Given the description of an element on the screen output the (x, y) to click on. 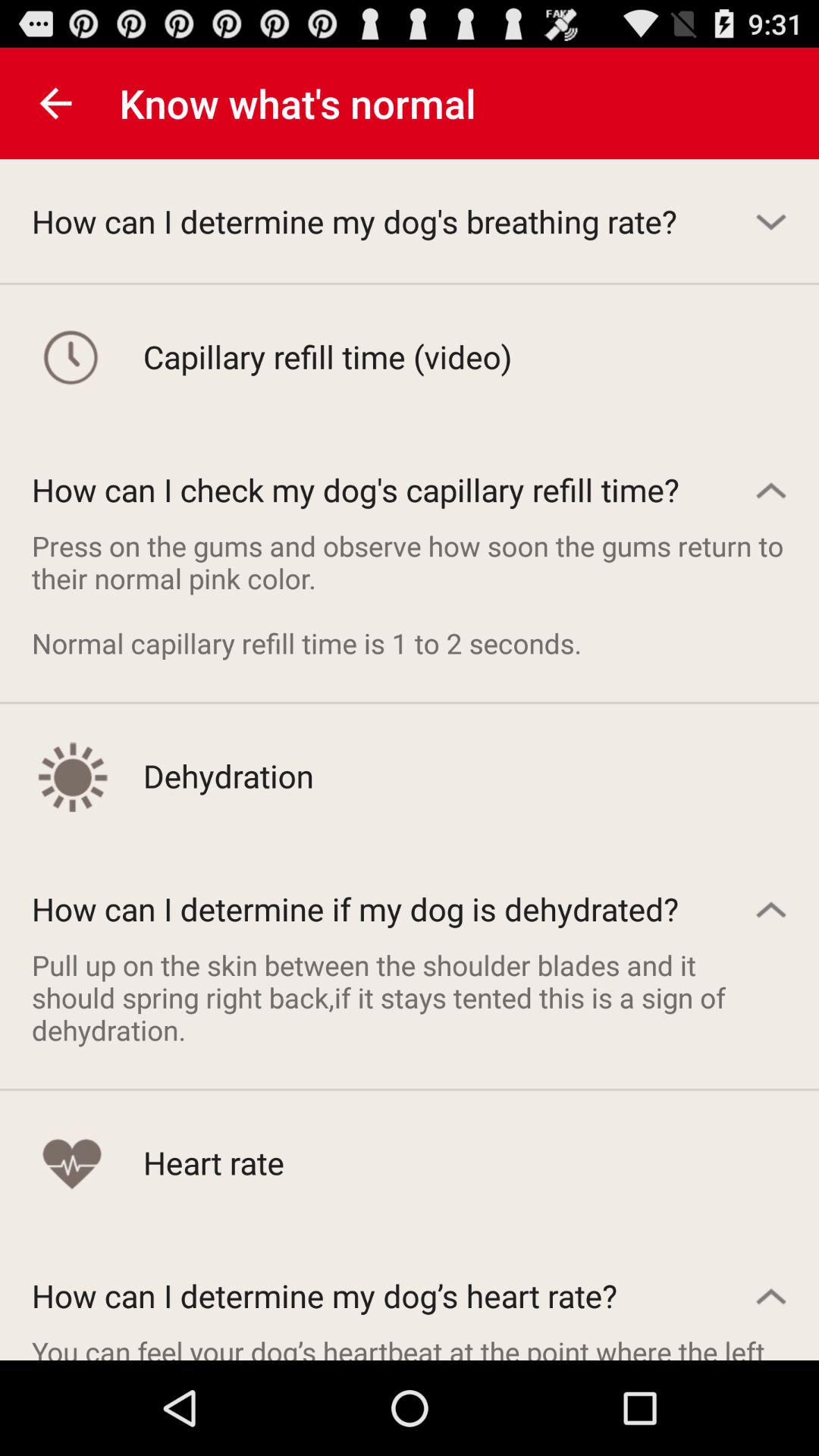
choose the item to the left of know what s (55, 103)
